Given the description of an element on the screen output the (x, y) to click on. 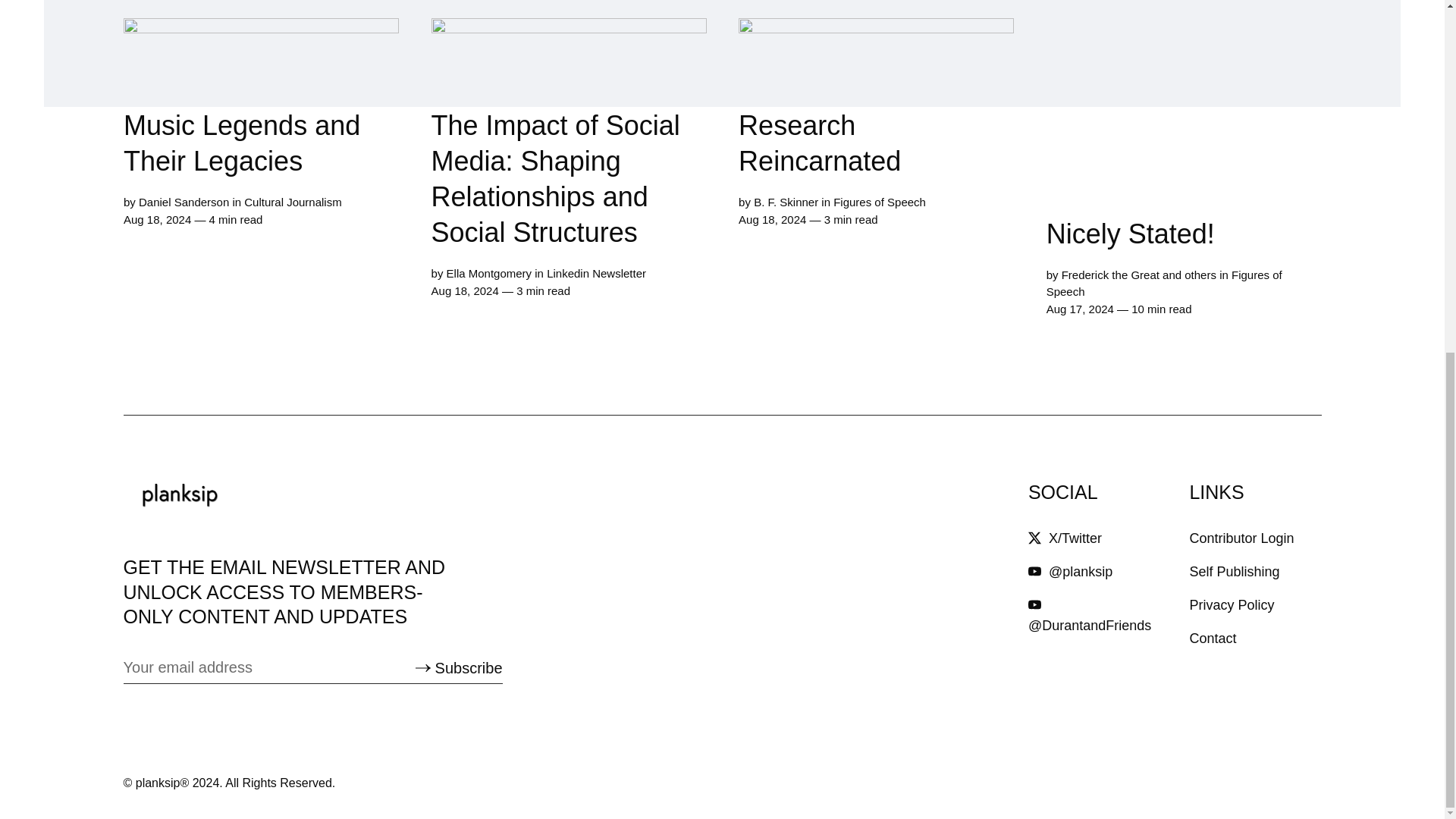
Ella Montgomery (488, 274)
Nicely Stated! (1182, 134)
Cultural Journalism (292, 205)
Figures of Speech (1163, 283)
Privacy Policy (1231, 604)
Contributor Login (1241, 538)
Contact (1212, 638)
Linkedin Newsletter (596, 274)
Self Publishing (1234, 571)
